Given the description of an element on the screen output the (x, y) to click on. 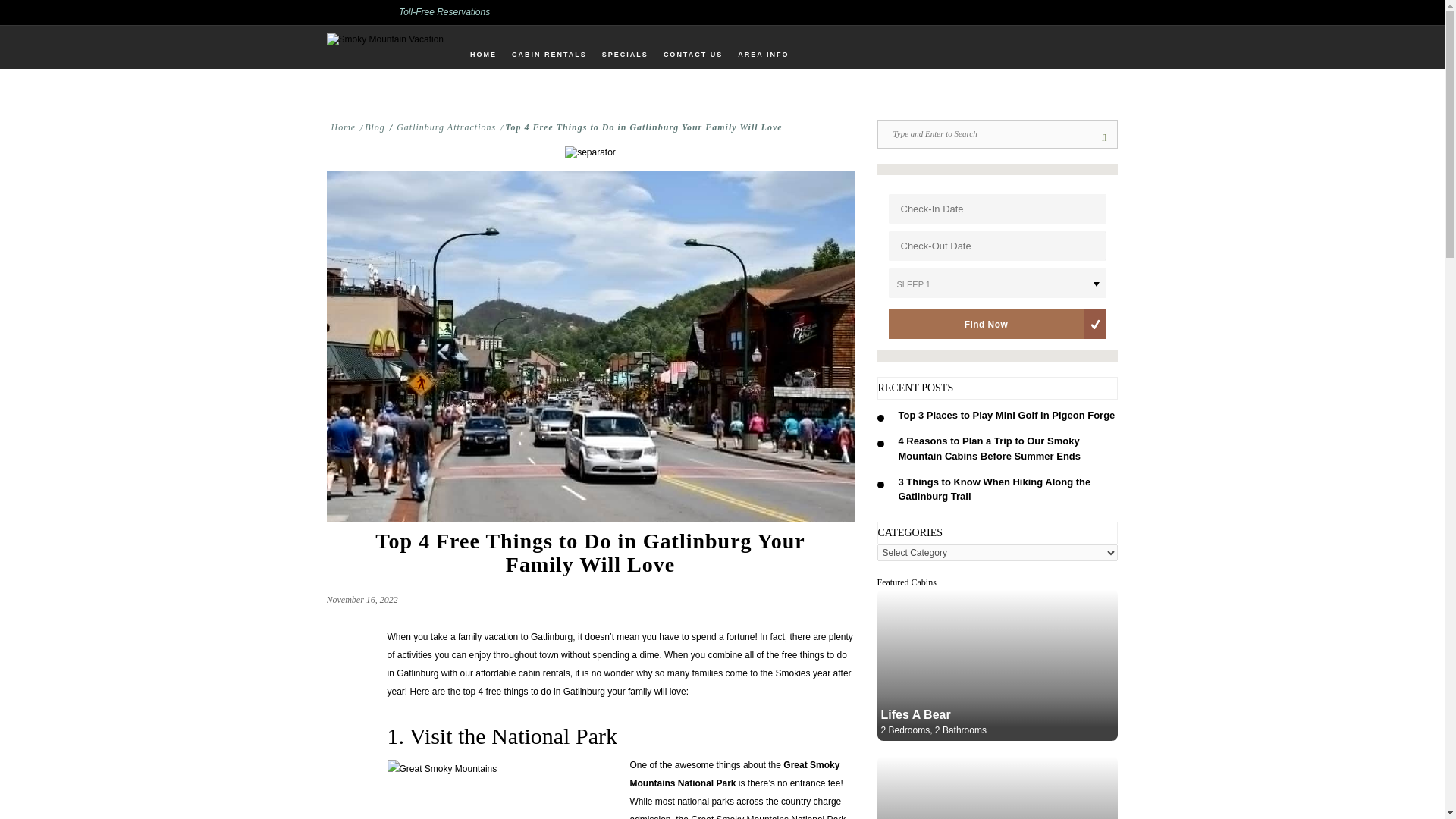
HOME (482, 54)
Gatlinburg Attractions (445, 127)
AREA INFO (762, 54)
Home (342, 127)
Top 4 Free Things to Do in Gatlinburg Your Family Will Love (643, 127)
CONTACT US (692, 54)
Home (342, 127)
CABIN RENTALS (549, 54)
Great Smoky Mountains National Park (734, 774)
Top 3 Places to Play Mini Golf in Pigeon Forge (1006, 414)
